Given the description of an element on the screen output the (x, y) to click on. 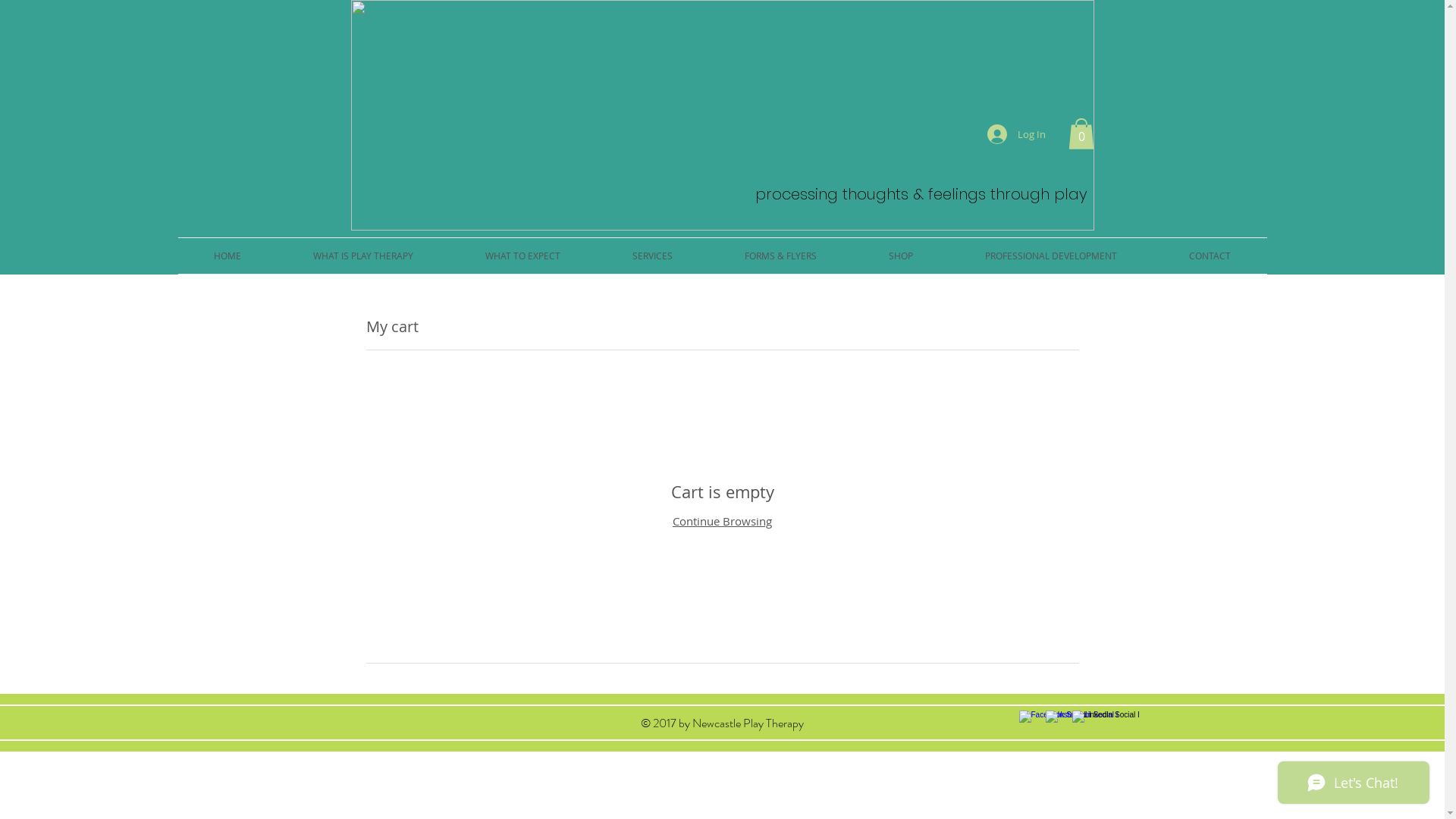
SHOP Element type: text (900, 255)
CONTACT Element type: text (1209, 255)
PROFESSIONAL DEVELOPMENT Element type: text (1051, 255)
Continue Browsing Element type: text (721, 520)
HOME Element type: text (226, 255)
WHAT TO EXPECT Element type: text (522, 255)
Log In Element type: text (1016, 133)
SERVICES Element type: text (652, 255)
0 Element type: text (1080, 133)
WHAT IS PLAY THERAPY Element type: text (363, 255)
FORMS & FLYERS Element type: text (780, 255)
